Given the description of an element on the screen output the (x, y) to click on. 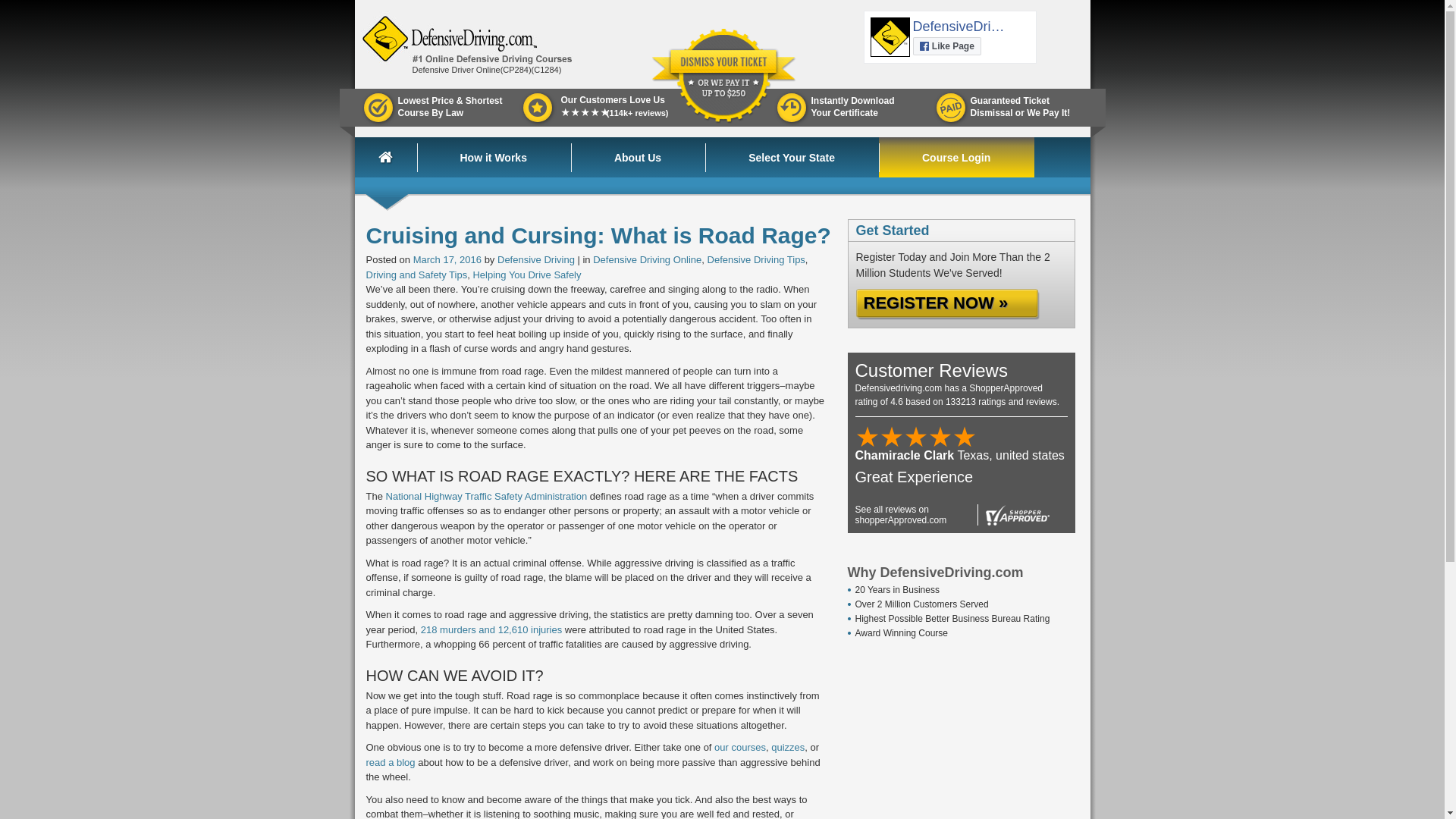
How it Works (493, 157)
Like Page (946, 45)
Guaranteed Ticket Dismissal or We Pay It! (847, 107)
Select Your State (1007, 107)
Home (791, 157)
7:21 pm (398, 157)
Defensive Driving (447, 259)
Defensive Driving (536, 259)
View all posts by Defensive Driving (466, 67)
